Given the description of an element on the screen output the (x, y) to click on. 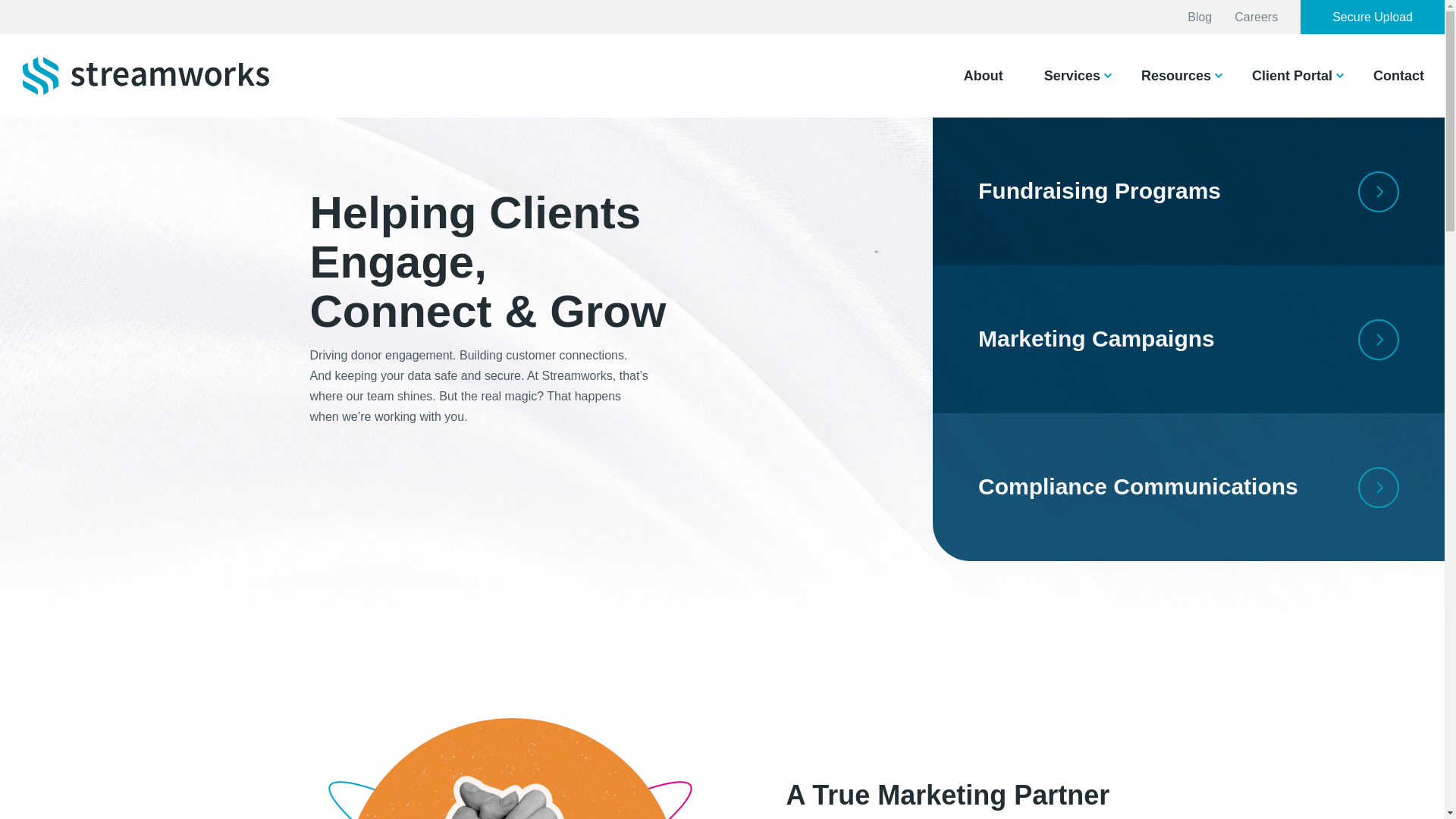
Resources (1176, 75)
Services (1072, 75)
Careers (1255, 17)
About (983, 75)
Client Portal (1291, 75)
Blog (1199, 17)
